Given the description of an element on the screen output the (x, y) to click on. 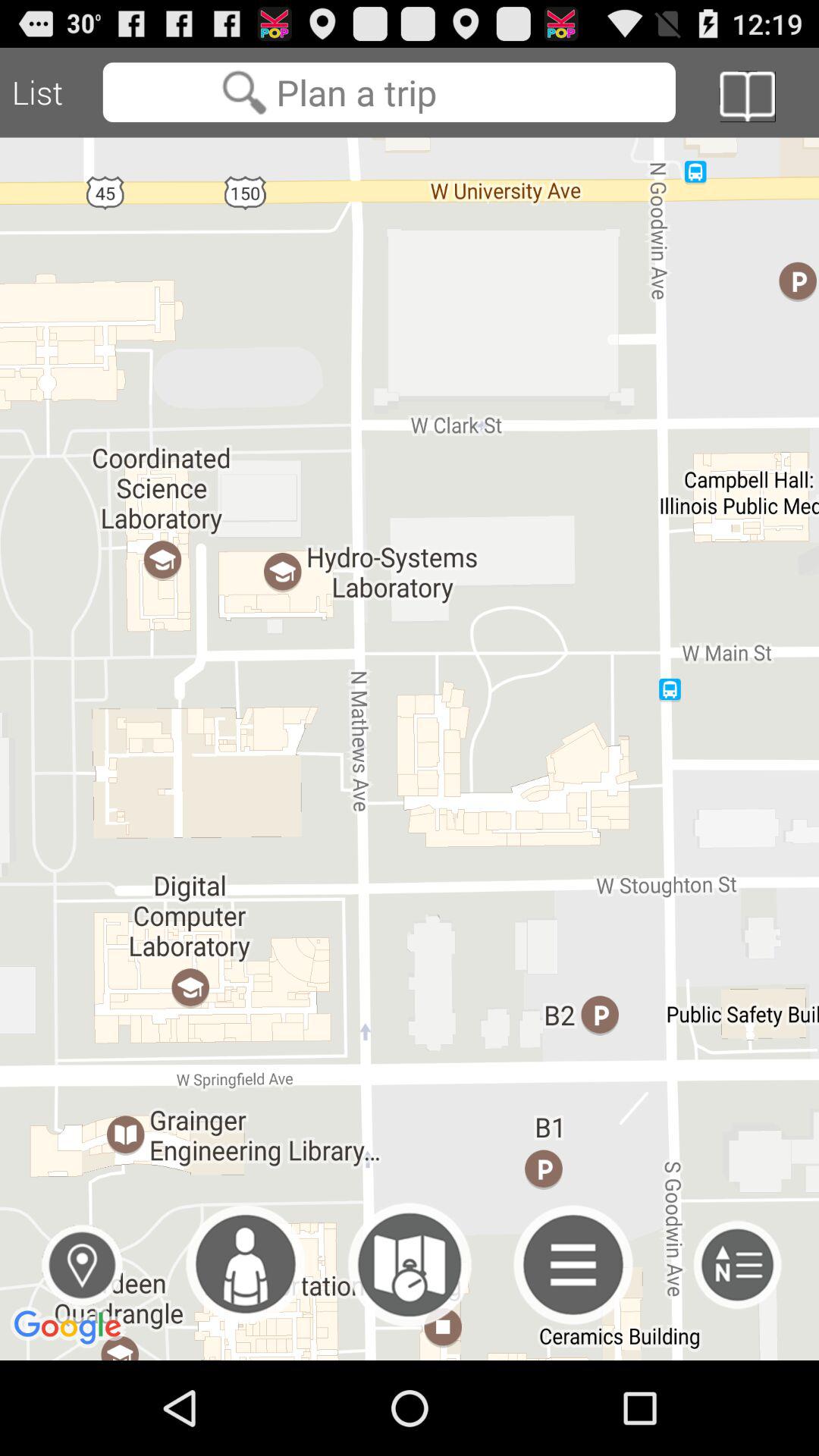
tap the item at the center (409, 748)
